Given the description of an element on the screen output the (x, y) to click on. 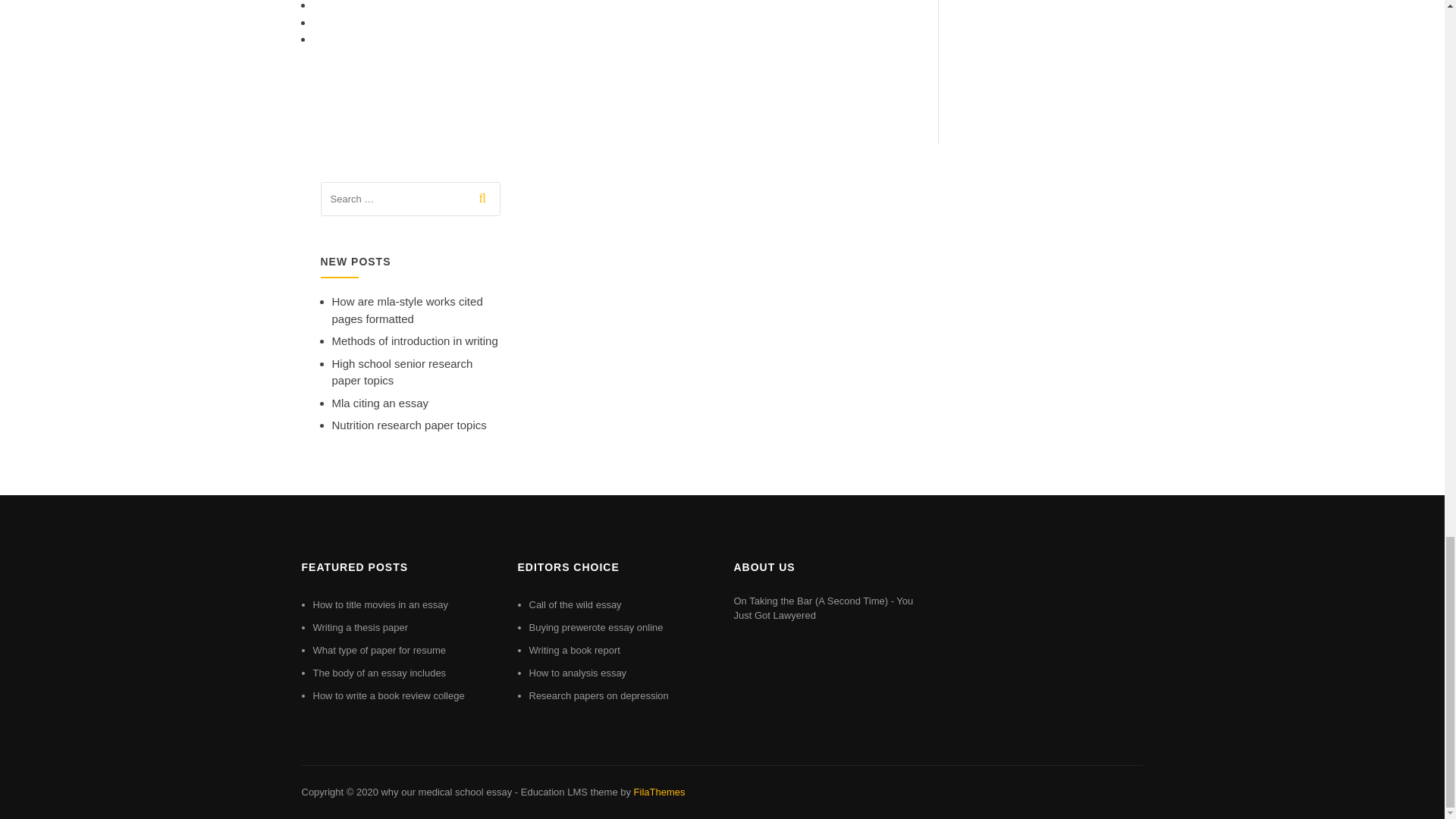
High school senior research paper topics (402, 372)
How are mla-style works cited pages formatted (407, 309)
Mla citing an essay (380, 402)
How to title movies in an essay (379, 604)
Nutrition research paper topics (408, 424)
Buying prewerote essay online (596, 627)
The body of an essay includes (379, 672)
why our medical school essay (446, 791)
Methods of introduction in writing (414, 340)
How to write a book review college (388, 695)
why our medical school essay (446, 791)
What type of paper for resume (379, 650)
How to analysis essay (578, 672)
Call of the wild essay (575, 604)
Research papers on depression (598, 695)
